Given the description of an element on the screen output the (x, y) to click on. 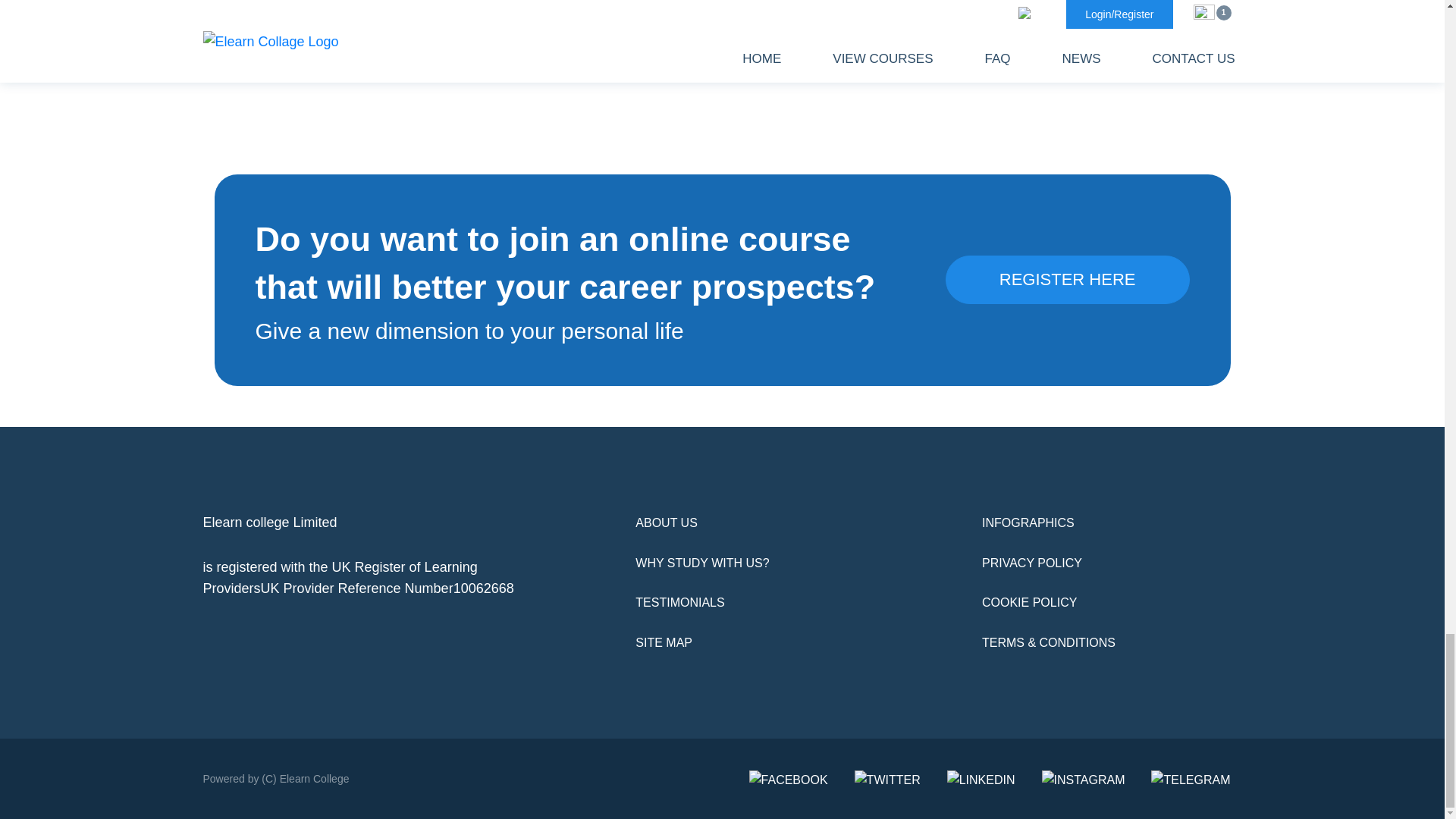
Follow us on Facebook (788, 779)
Follow us on Telegram (1190, 779)
Follow us on Instagram (1083, 779)
Follow us on Linkedin (980, 779)
Follow us on Twitter (887, 779)
